Given the description of an element on the screen output the (x, y) to click on. 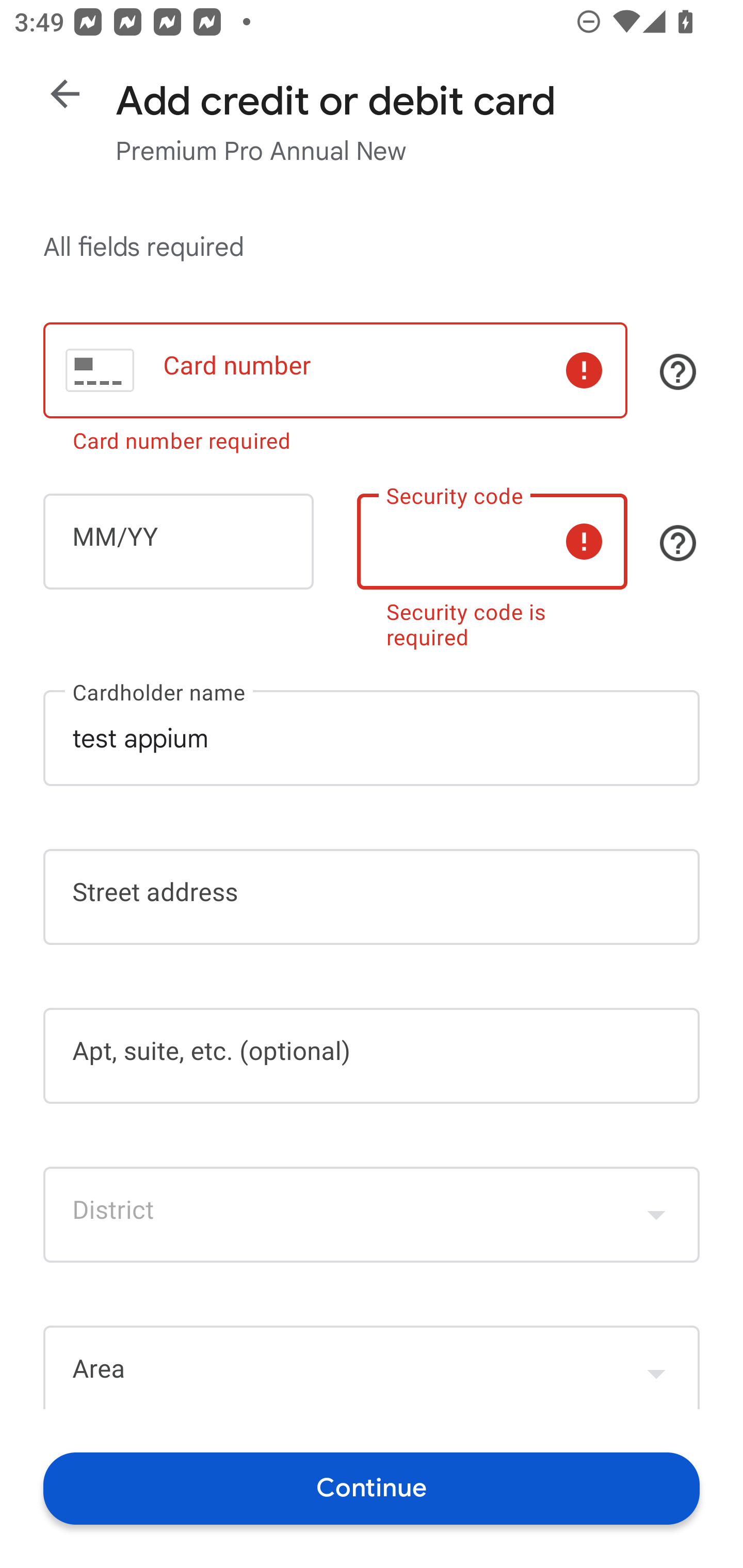
Back (64, 93)
Card number (335, 370)
Button, shows cards that are accepted for payment (677, 371)
Expiration date, 2 digit month, 2 digit year (178, 541)
Security code (492, 541)
Security code help (677, 543)
test appium (371, 737)
Street address (371, 896)
Apt, suite, etc. (optional) (371, 1055)
District (371, 1214)
Show dropdown menu (655, 1214)
Area (371, 1366)
Show dropdown menu (655, 1369)
Continue (371, 1487)
